Given the description of an element on the screen output the (x, y) to click on. 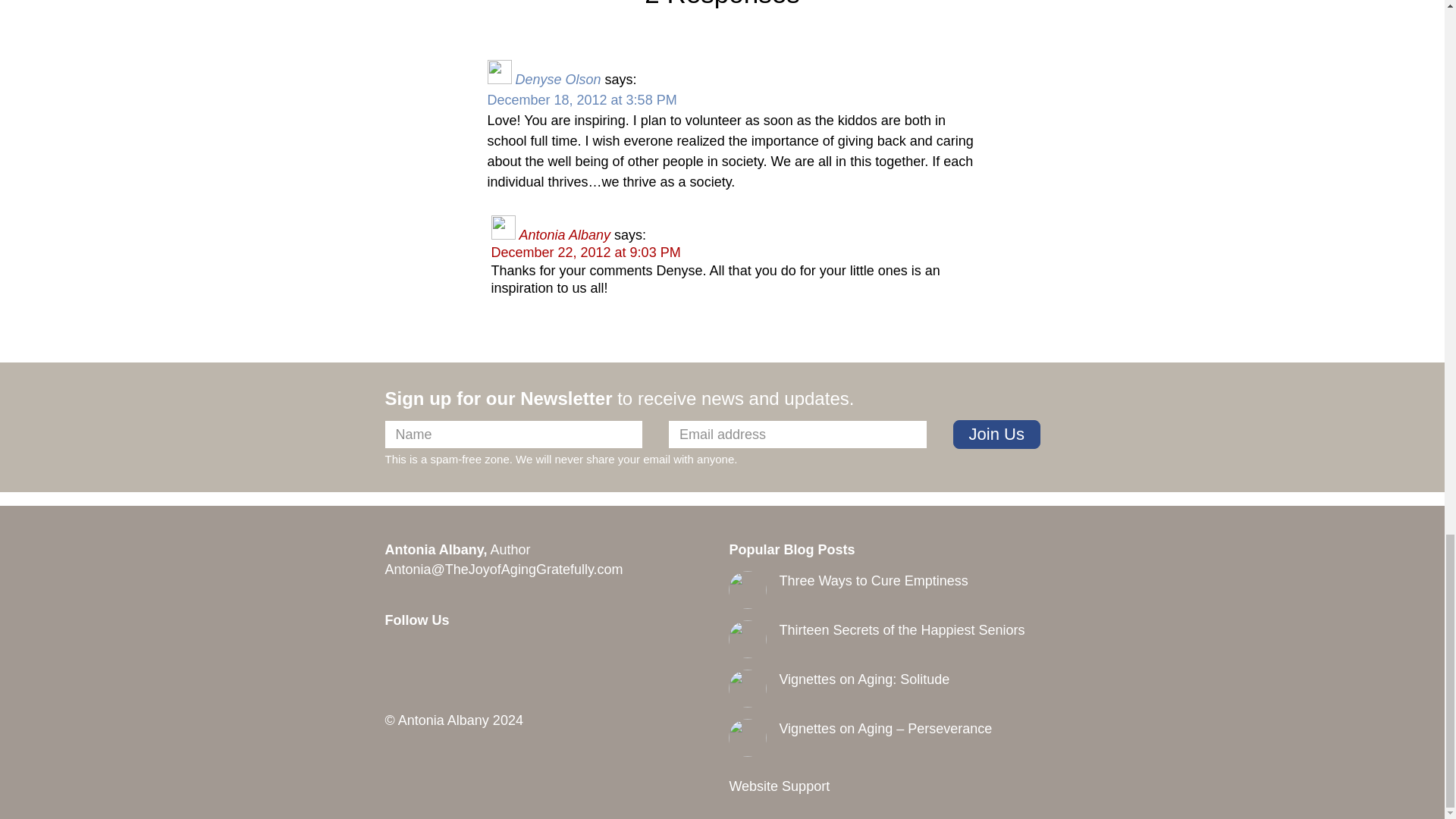
Email address (797, 433)
Denyse Olson (558, 79)
Antonia Albany (564, 234)
December 18, 2012 at 3:58 PM (581, 99)
December 22, 2012 at 9:03 PM (586, 252)
Thirteen Secrets of the Happiest Seniors (901, 630)
Three Ways to Cure Emptiness (873, 580)
Name (514, 433)
Website Support (779, 785)
Vignettes on Aging: Solitude (863, 679)
Join Us (997, 434)
Join Us (997, 434)
